Given the description of an element on the screen output the (x, y) to click on. 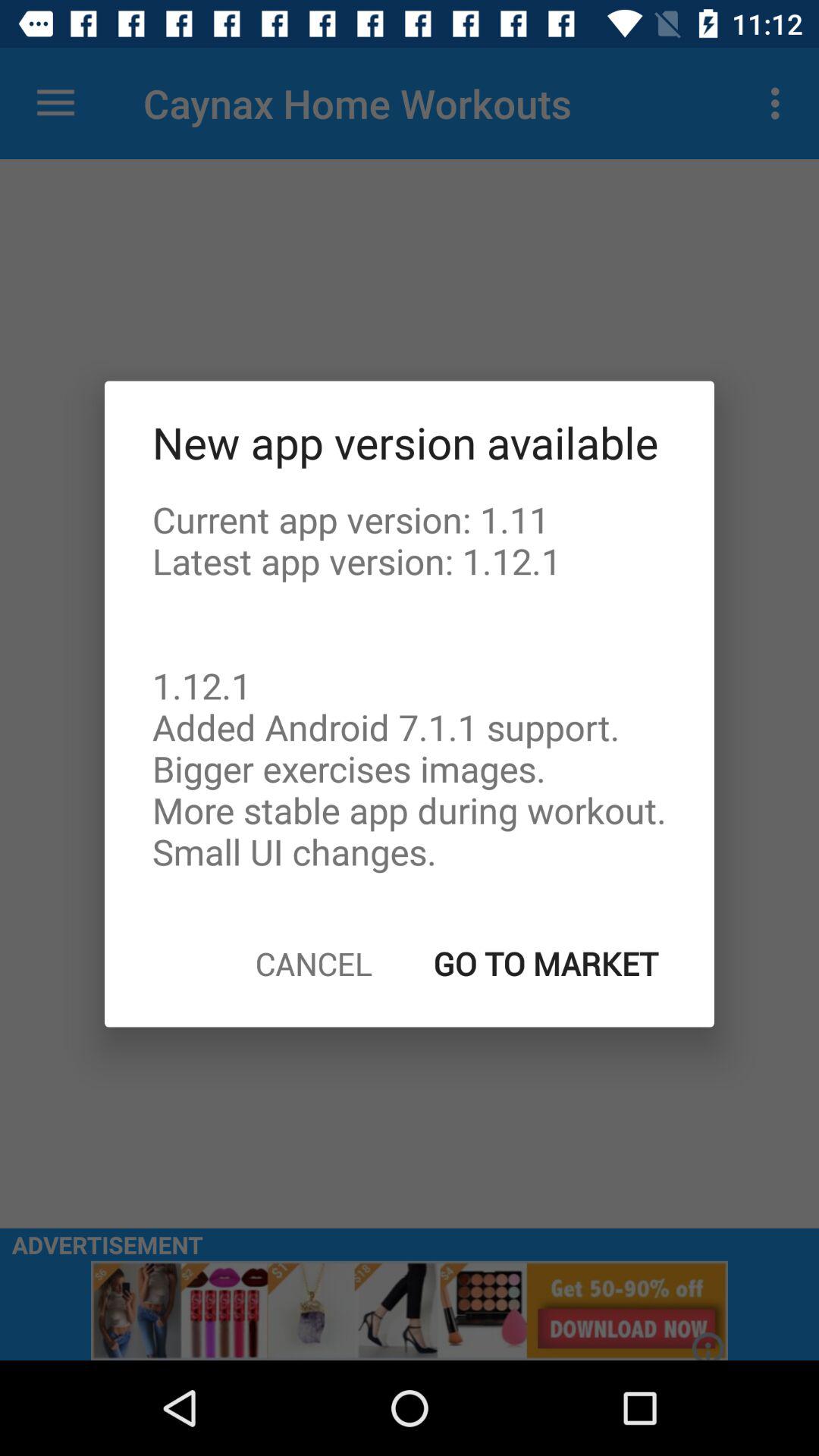
choose the cancel icon (313, 963)
